Given the description of an element on the screen output the (x, y) to click on. 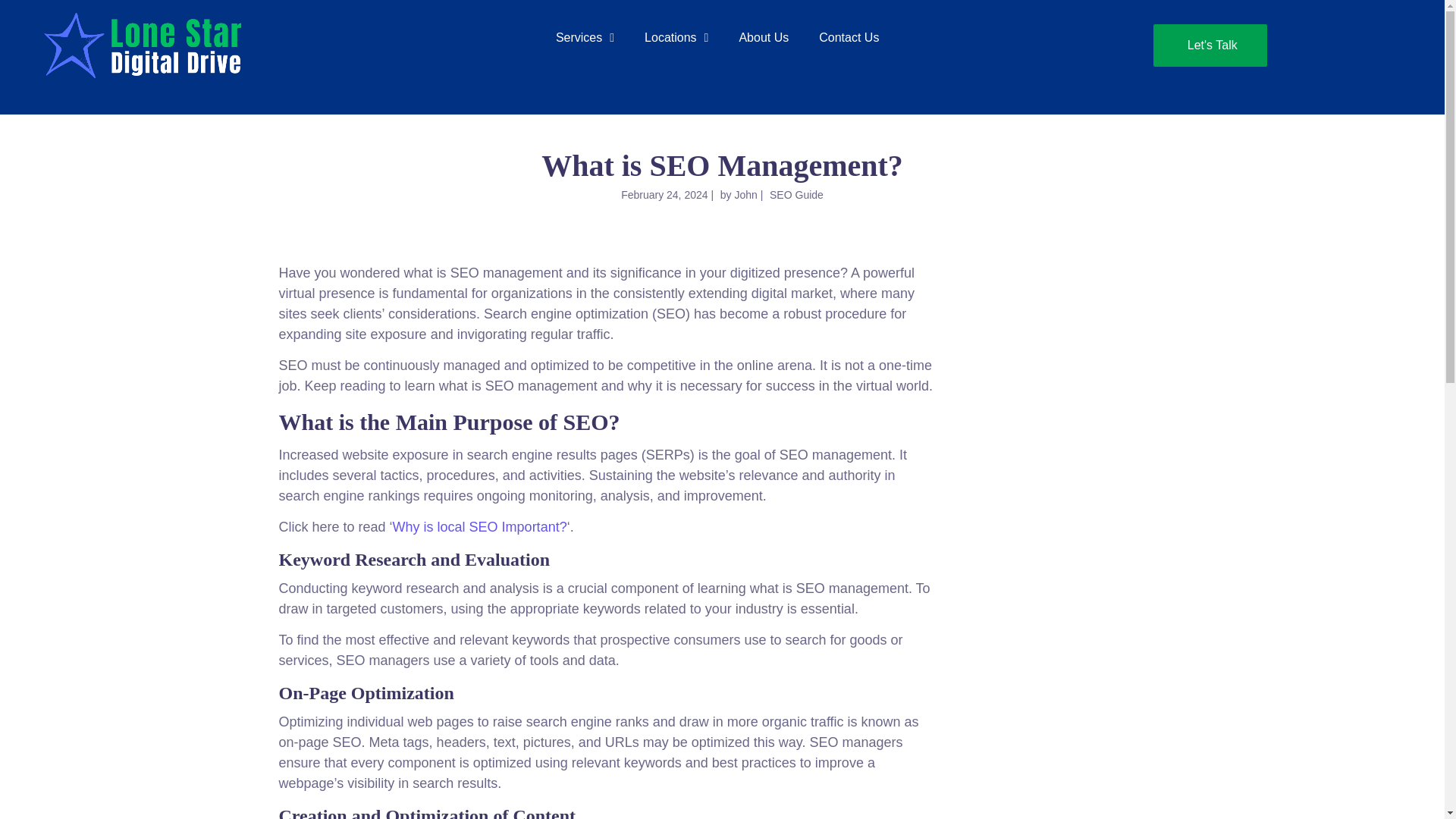
Lone Star (144, 45)
Locations (675, 37)
Contact Us (848, 37)
Services (584, 37)
About Us (763, 37)
